Given the description of an element on the screen output the (x, y) to click on. 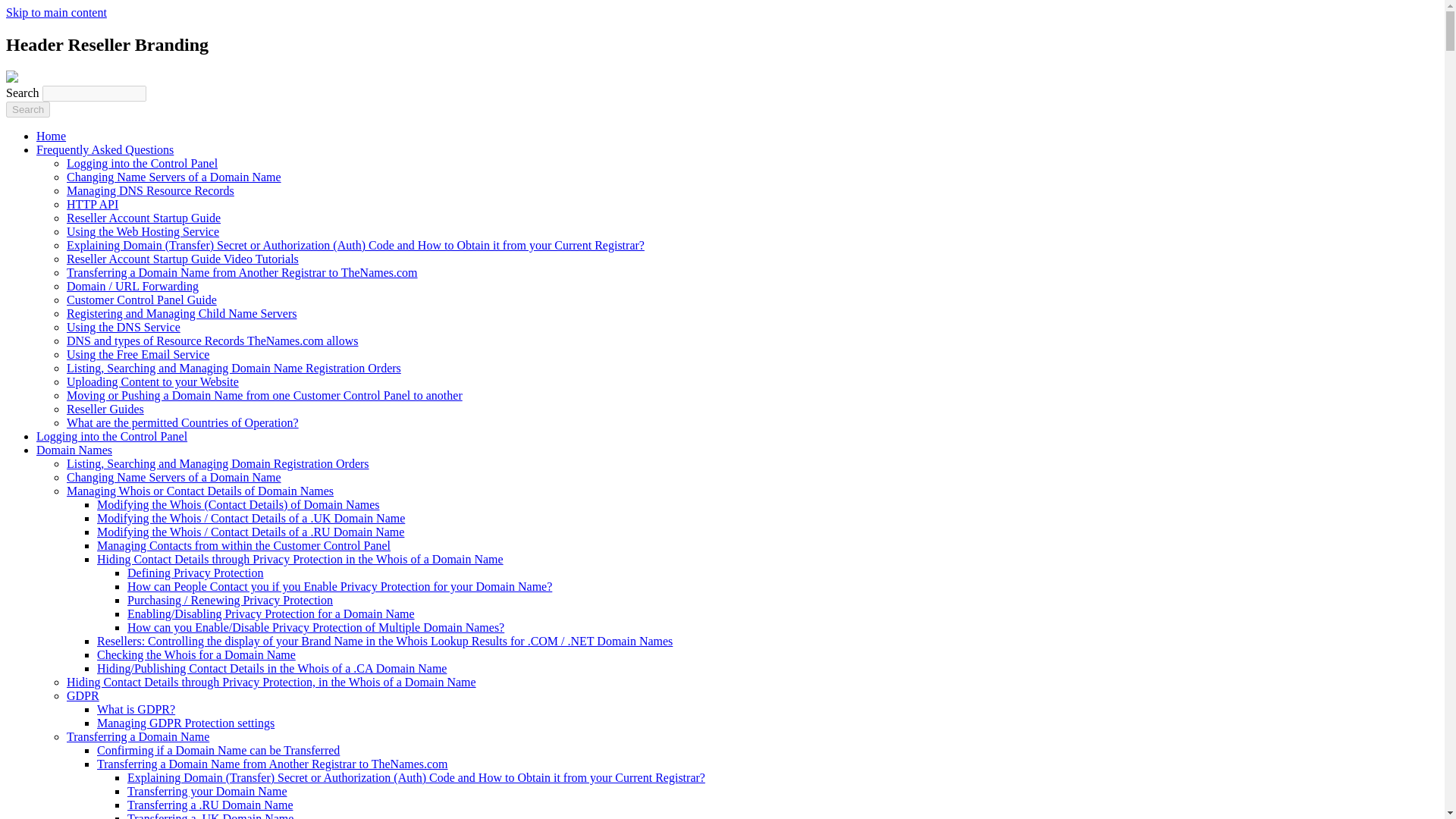
Customer Control Panel Guide (141, 299)
Listing, Searching and Managing Domain Registration Orders (217, 463)
Reseller Guides (105, 408)
Search (27, 109)
Registering and Managing Child Name Servers (181, 313)
Changing Name Servers of a Domain Name (173, 176)
Managing DNS Resource Records (150, 190)
Changing Name Servers of a Domain Name (173, 477)
Search (27, 109)
Reseller Account Startup Guide (143, 217)
Search (27, 109)
Defining Privacy Protection (195, 572)
Frequently Asked Questions (104, 149)
